Given the description of an element on the screen output the (x, y) to click on. 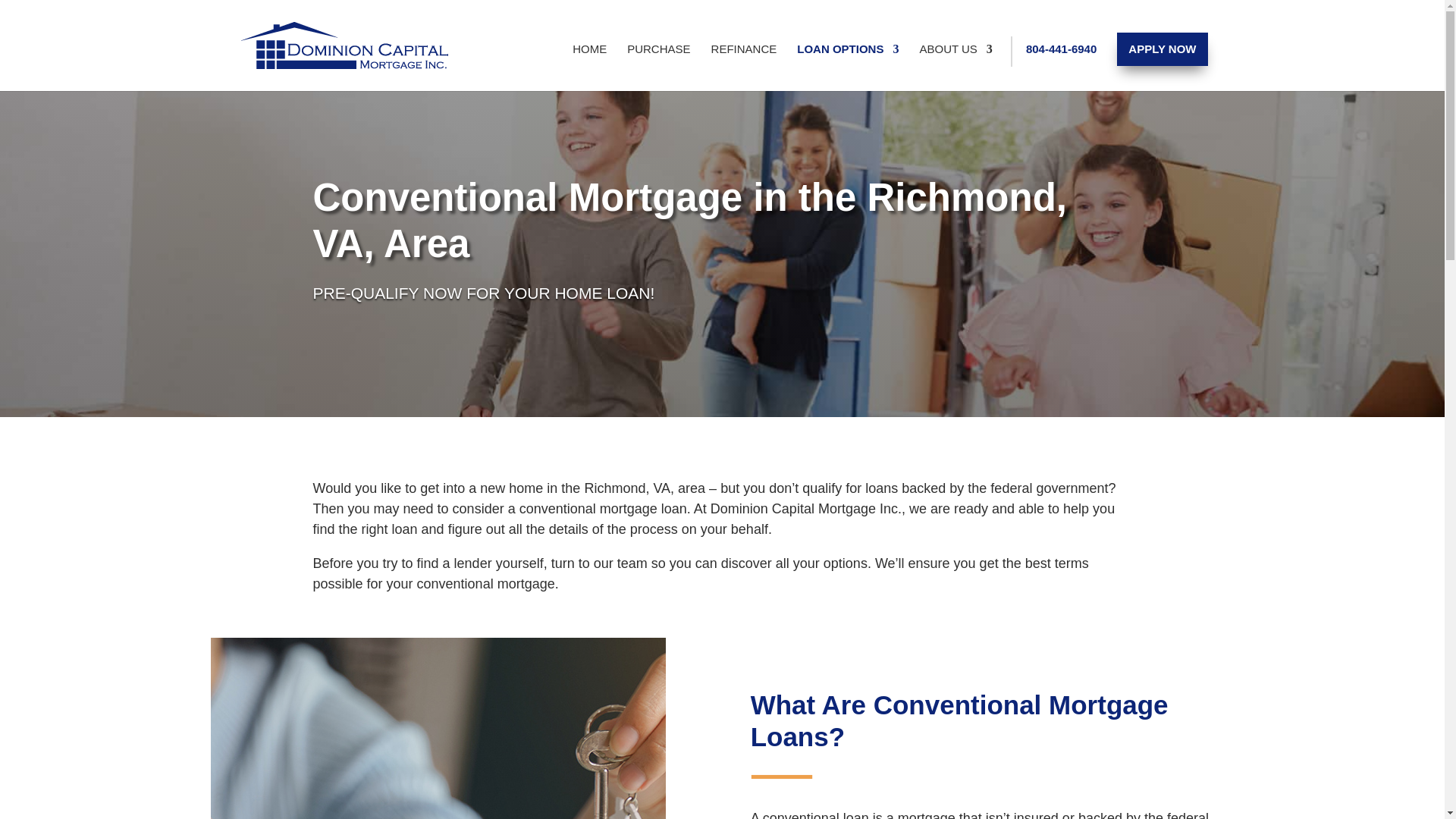
conventional-mortgage-image1x (438, 728)
REFINANCE (744, 67)
divider (781, 776)
LOAN OPTIONS (847, 67)
PURCHASE (658, 67)
ABOUT US (954, 67)
APPLY NOW (1161, 49)
804-441-6940 (1061, 65)
